Given the description of an element on the screen output the (x, y) to click on. 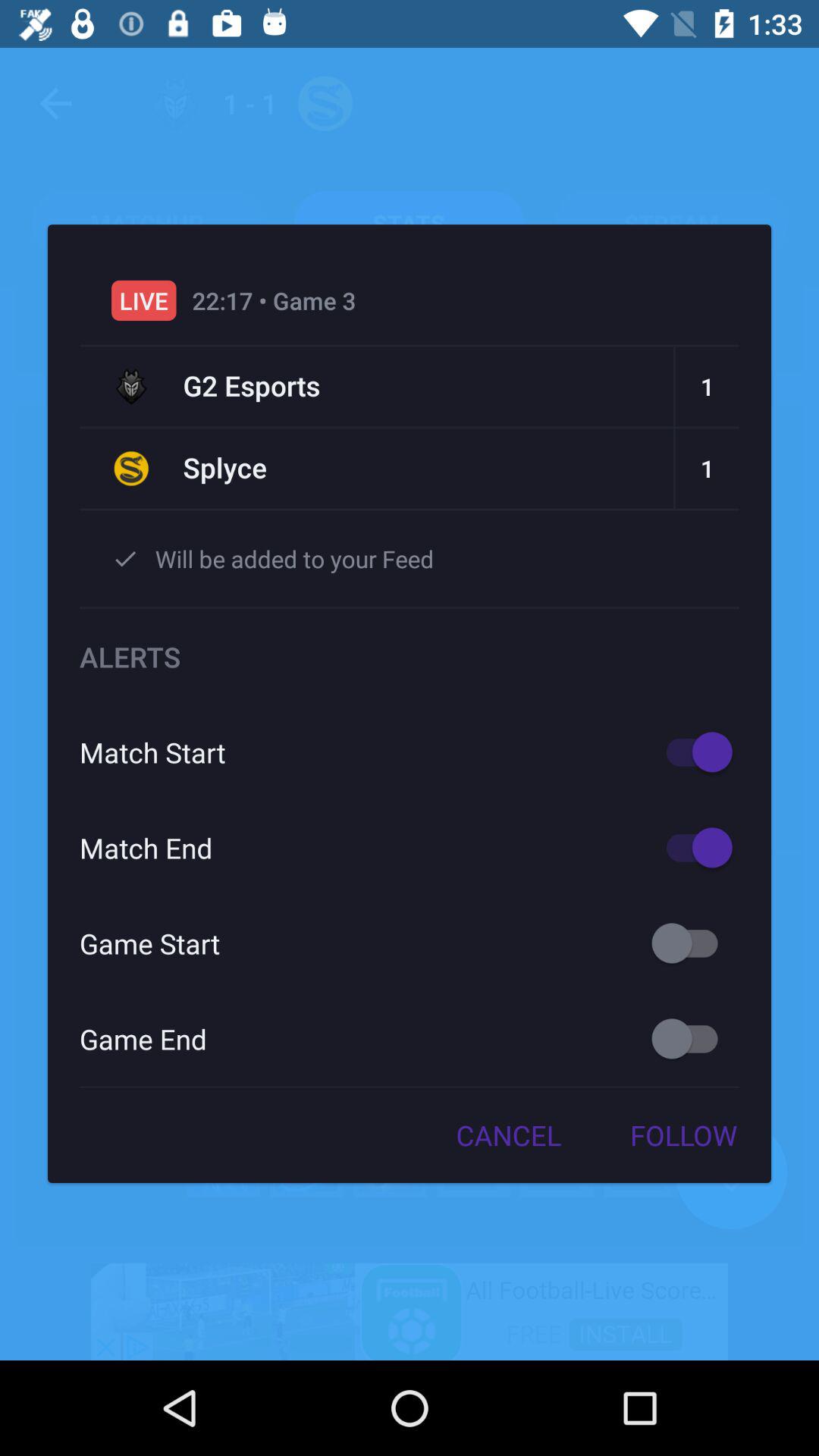
go to off button (691, 943)
